Given the description of an element on the screen output the (x, y) to click on. 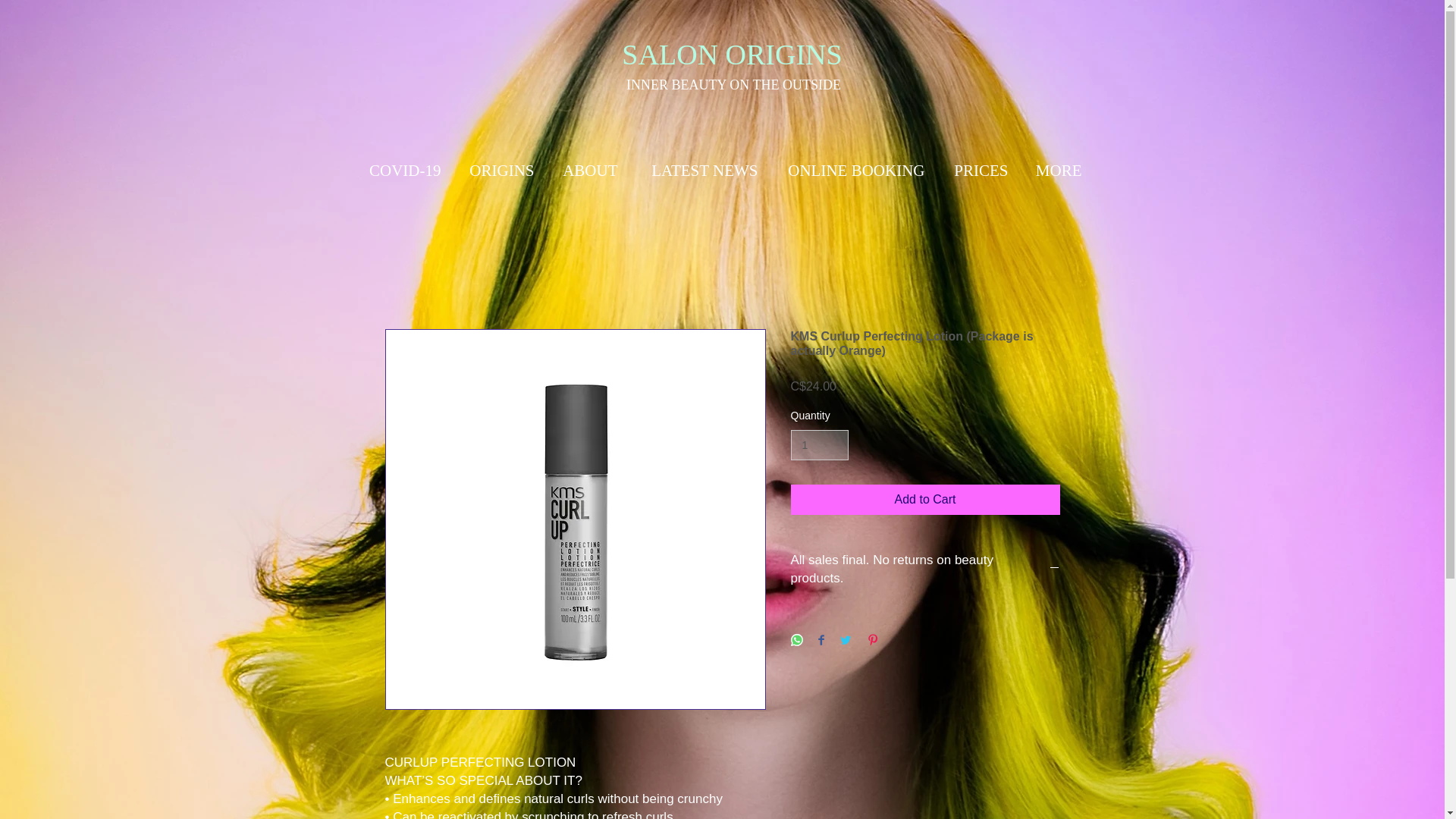
ORIGINS (497, 170)
All sales final. No returns on beauty products. (924, 569)
Add to Cart (924, 499)
LATEST NEWS (699, 170)
PRICES (977, 170)
1 (818, 445)
ABOUT (587, 170)
ONLINE BOOKING (852, 170)
COVID-19 (400, 170)
